Given the description of an element on the screen output the (x, y) to click on. 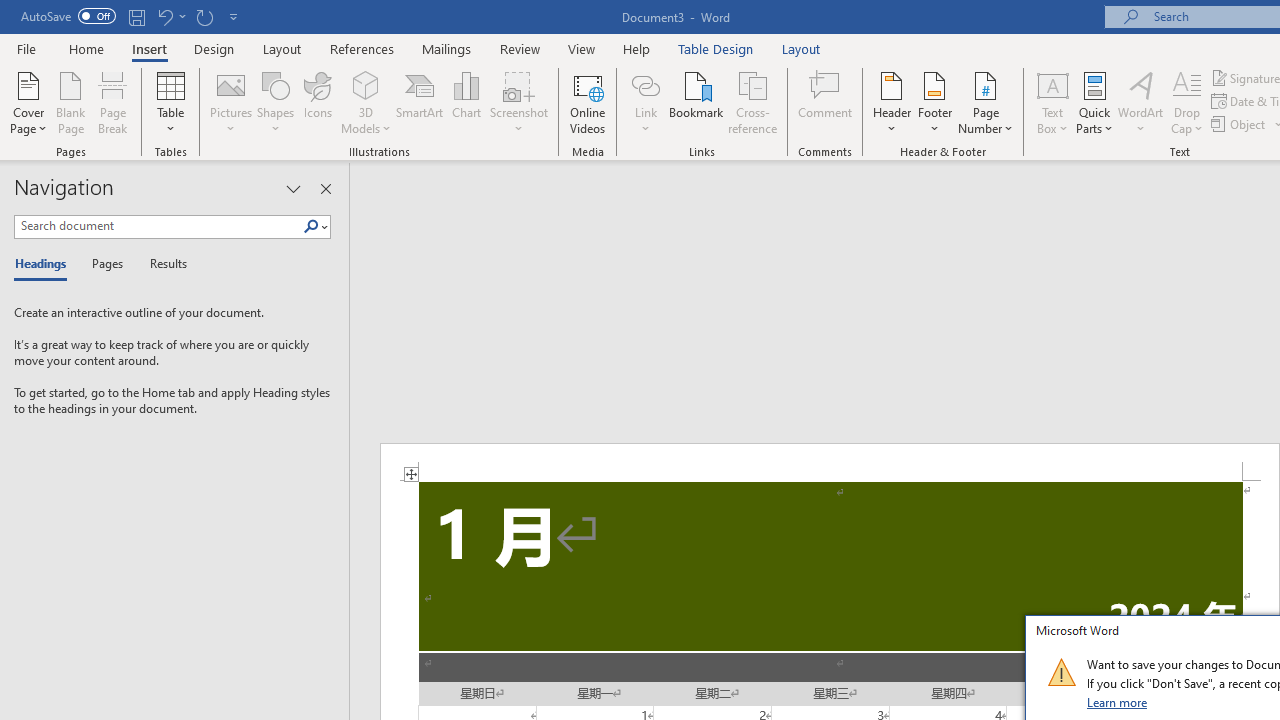
Repeat Doc Close (204, 15)
Shapes (275, 102)
Online Videos... (588, 102)
WordArt (1141, 102)
3D Models (366, 84)
Table (170, 102)
Object... (1240, 124)
Quick Parts (1094, 102)
Link (645, 84)
